Given the description of an element on the screen output the (x, y) to click on. 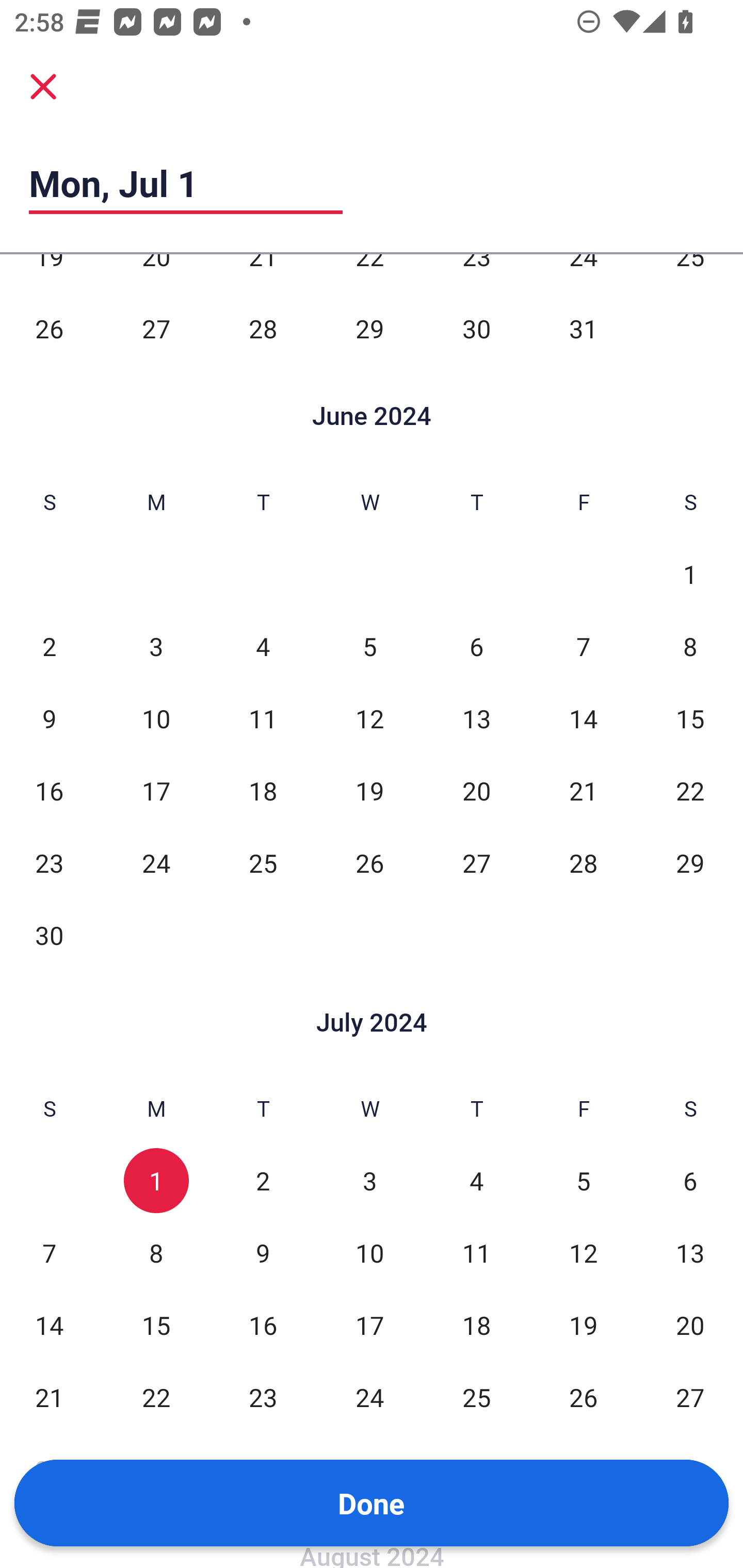
Cancel (43, 86)
Mon, Jul 1 (185, 182)
26 Sun, May 26, Not Selected (49, 329)
27 Mon, May 27, Not Selected (156, 329)
28 Tue, May 28, Not Selected (263, 329)
29 Wed, May 29, Not Selected (369, 329)
30 Thu, May 30, Not Selected (476, 329)
31 Fri, May 31, Not Selected (583, 329)
1 Sat, Jun 1, Not Selected (690, 573)
2 Sun, Jun 2, Not Selected (49, 645)
3 Mon, Jun 3, Not Selected (156, 645)
4 Tue, Jun 4, Not Selected (263, 645)
5 Wed, Jun 5, Not Selected (369, 645)
6 Thu, Jun 6, Not Selected (476, 645)
7 Fri, Jun 7, Not Selected (583, 645)
8 Sat, Jun 8, Not Selected (690, 645)
9 Sun, Jun 9, Not Selected (49, 718)
10 Mon, Jun 10, Not Selected (156, 718)
11 Tue, Jun 11, Not Selected (263, 718)
12 Wed, Jun 12, Not Selected (369, 718)
13 Thu, Jun 13, Not Selected (476, 718)
14 Fri, Jun 14, Not Selected (583, 718)
15 Sat, Jun 15, Not Selected (690, 718)
16 Sun, Jun 16, Not Selected (49, 790)
17 Mon, Jun 17, Not Selected (156, 790)
18 Tue, Jun 18, Not Selected (263, 790)
19 Wed, Jun 19, Not Selected (369, 790)
20 Thu, Jun 20, Not Selected (476, 790)
21 Fri, Jun 21, Not Selected (583, 790)
22 Sat, Jun 22, Not Selected (690, 790)
23 Sun, Jun 23, Not Selected (49, 862)
24 Mon, Jun 24, Not Selected (156, 862)
25 Tue, Jun 25, Not Selected (263, 862)
26 Wed, Jun 26, Not Selected (369, 862)
27 Thu, Jun 27, Not Selected (476, 862)
28 Fri, Jun 28, Not Selected (583, 862)
29 Sat, Jun 29, Not Selected (690, 862)
30 Sun, Jun 30, Not Selected (49, 934)
1 Mon, Jul 1, Selected (156, 1180)
2 Tue, Jul 2, Not Selected (263, 1180)
3 Wed, Jul 3, Not Selected (369, 1180)
4 Thu, Jul 4, Not Selected (476, 1180)
5 Fri, Jul 5, Not Selected (583, 1180)
6 Sat, Jul 6, Not Selected (690, 1180)
7 Sun, Jul 7, Not Selected (49, 1252)
8 Mon, Jul 8, Not Selected (156, 1252)
9 Tue, Jul 9, Not Selected (263, 1252)
10 Wed, Jul 10, Not Selected (369, 1252)
11 Thu, Jul 11, Not Selected (476, 1252)
12 Fri, Jul 12, Not Selected (583, 1252)
13 Sat, Jul 13, Not Selected (690, 1252)
14 Sun, Jul 14, Not Selected (49, 1324)
15 Mon, Jul 15, Not Selected (156, 1324)
16 Tue, Jul 16, Not Selected (263, 1324)
17 Wed, Jul 17, Not Selected (369, 1324)
18 Thu, Jul 18, Not Selected (476, 1324)
19 Fri, Jul 19, Not Selected (583, 1324)
20 Sat, Jul 20, Not Selected (690, 1324)
21 Sun, Jul 21, Not Selected (49, 1397)
22 Mon, Jul 22, Not Selected (156, 1397)
23 Tue, Jul 23, Not Selected (263, 1397)
24 Wed, Jul 24, Not Selected (369, 1397)
25 Thu, Jul 25, Not Selected (476, 1397)
26 Fri, Jul 26, Not Selected (583, 1397)
27 Sat, Jul 27, Not Selected (690, 1397)
Done Button Done (371, 1502)
